Given the description of an element on the screen output the (x, y) to click on. 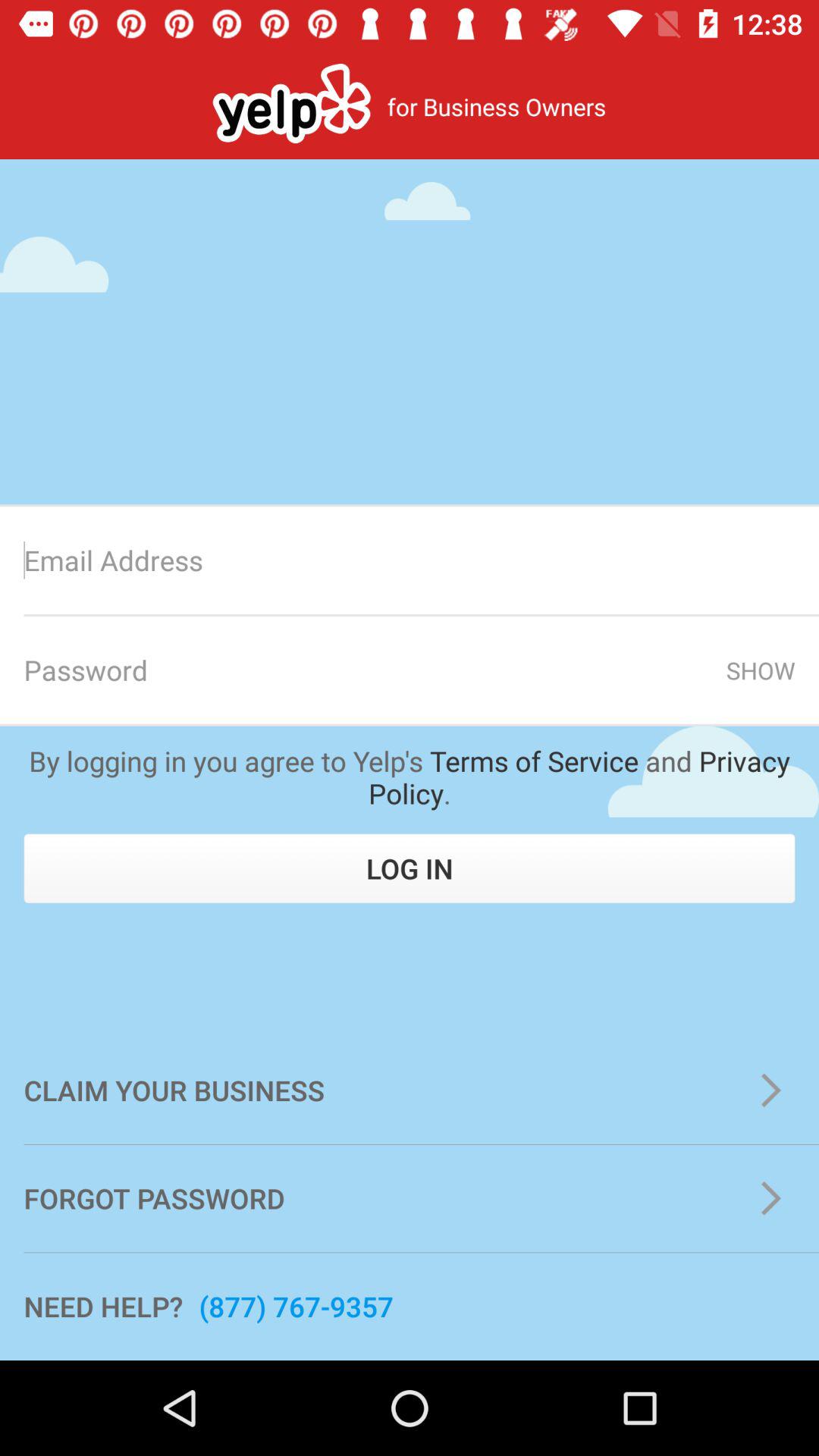
jump until the by logging in item (409, 777)
